Given the description of an element on the screen output the (x, y) to click on. 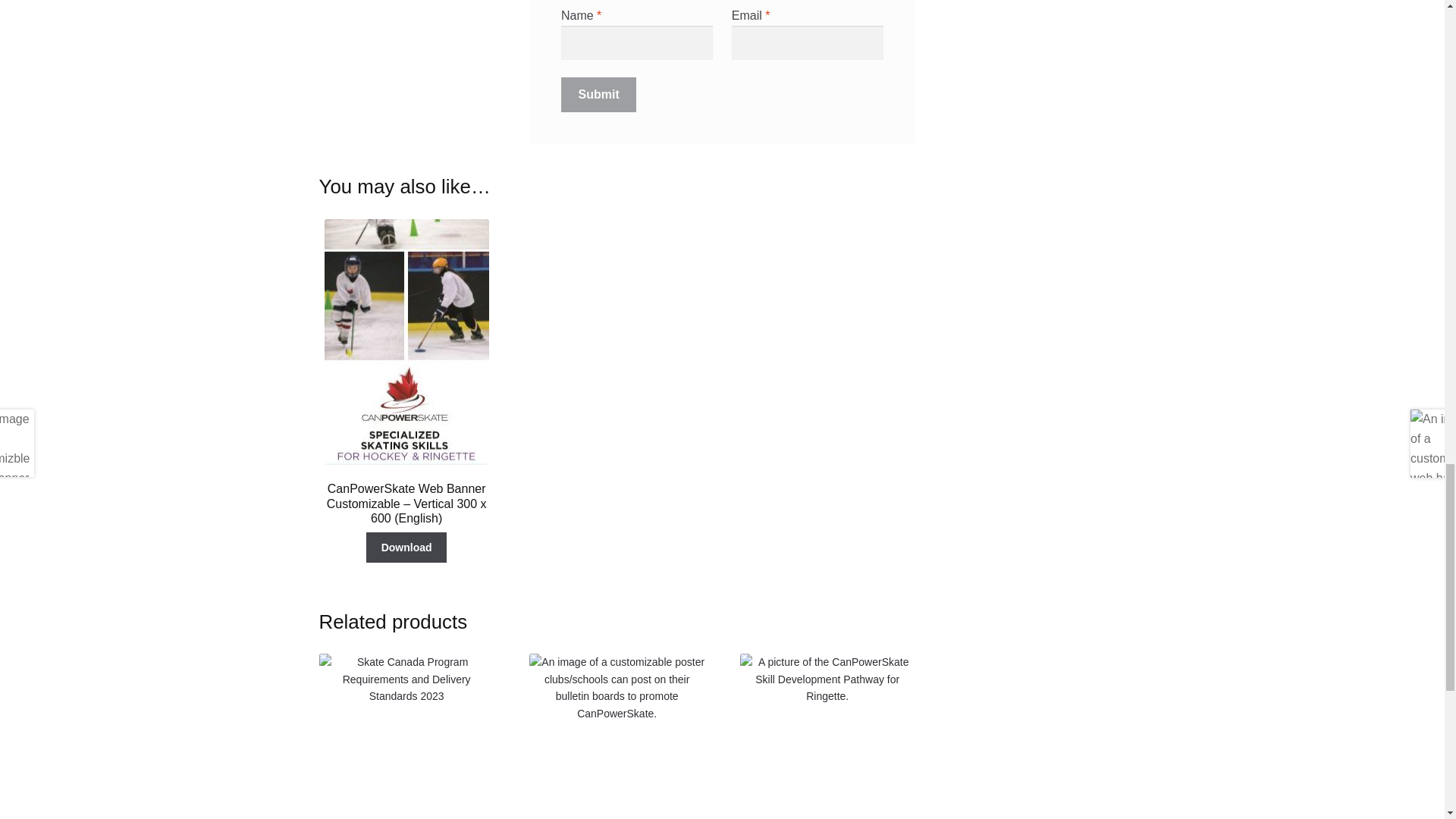
Submit (598, 94)
